Given the description of an element on the screen output the (x, y) to click on. 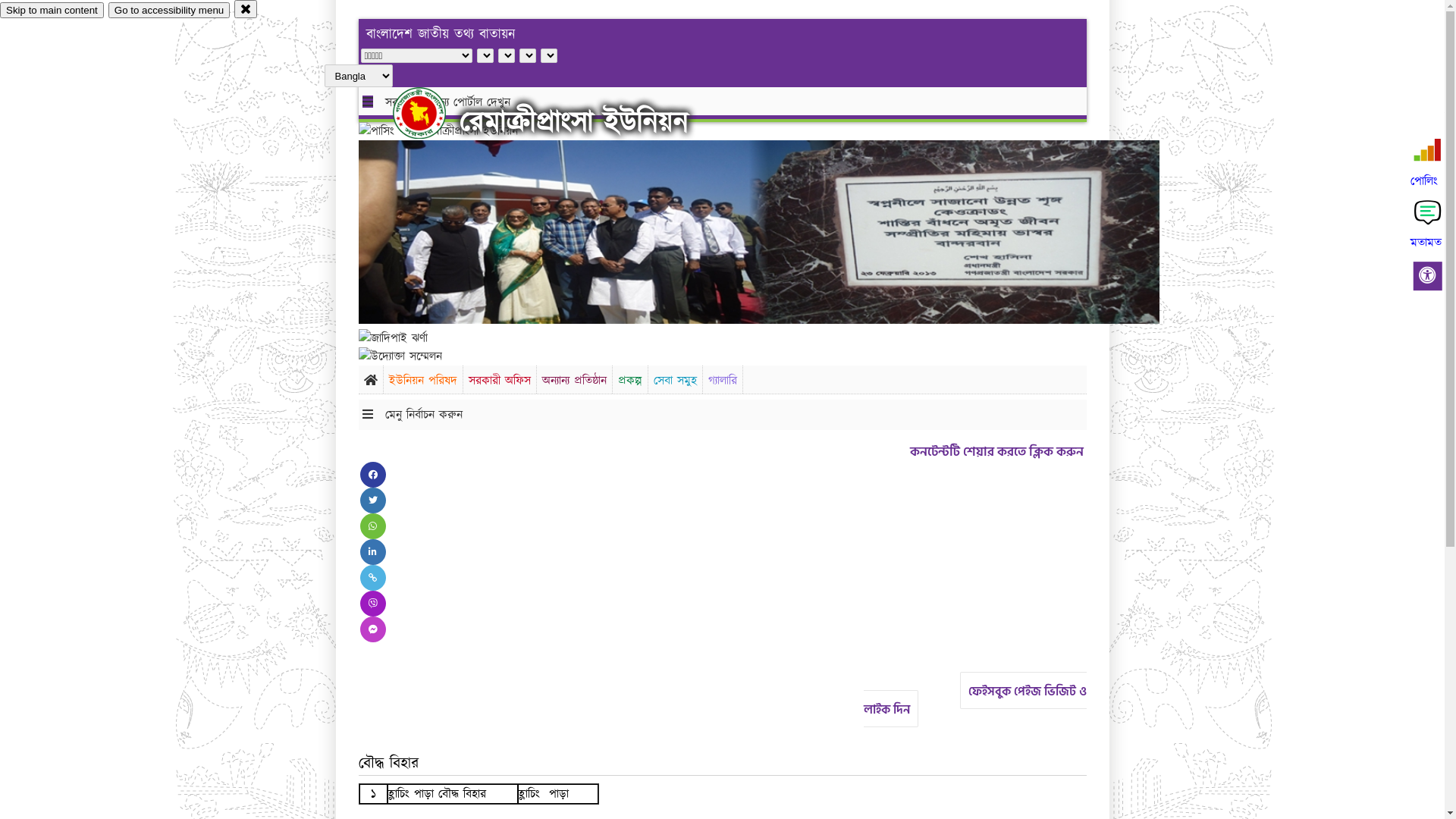
close Element type: hover (245, 9)

                
             Element type: hover (431, 112)
Skip to main content Element type: text (51, 10)
Go to accessibility menu Element type: text (168, 10)
